Given the description of an element on the screen output the (x, y) to click on. 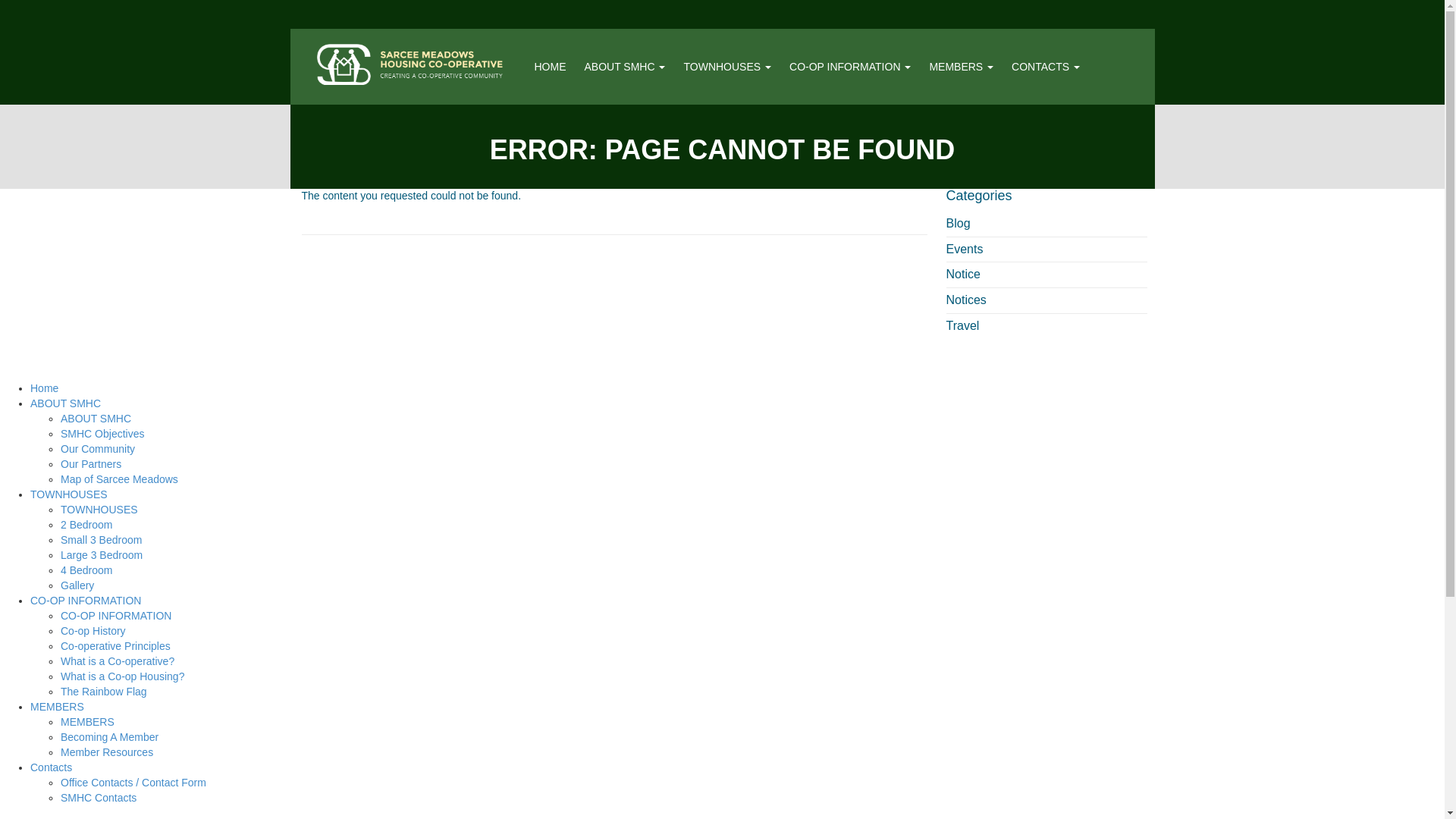
ABOUT SMHC (624, 66)
MEMBERS (960, 66)
ABOUT SMHC (624, 66)
Sarcee Meadows Housing Co-Operative (409, 64)
Blog (958, 223)
TOWNHOUSES (726, 66)
HOME (550, 66)
ABOUT SMHC (65, 403)
CO-OP INFORMATION (850, 66)
SMHC Objectives (102, 433)
